Given the description of an element on the screen output the (x, y) to click on. 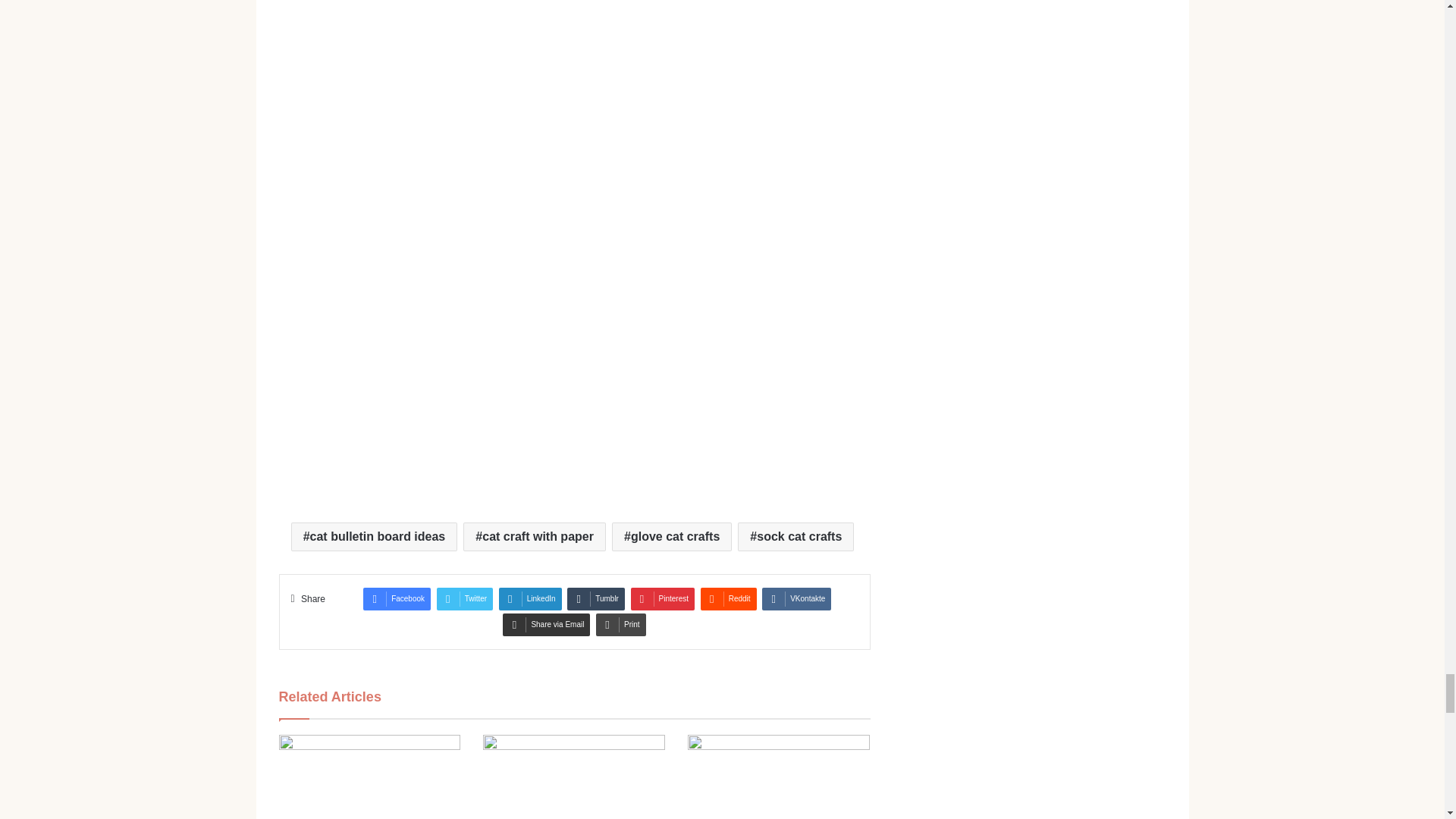
Facebook (396, 599)
Twitter (464, 599)
LinkedIn (530, 599)
